Given the description of an element on the screen output the (x, y) to click on. 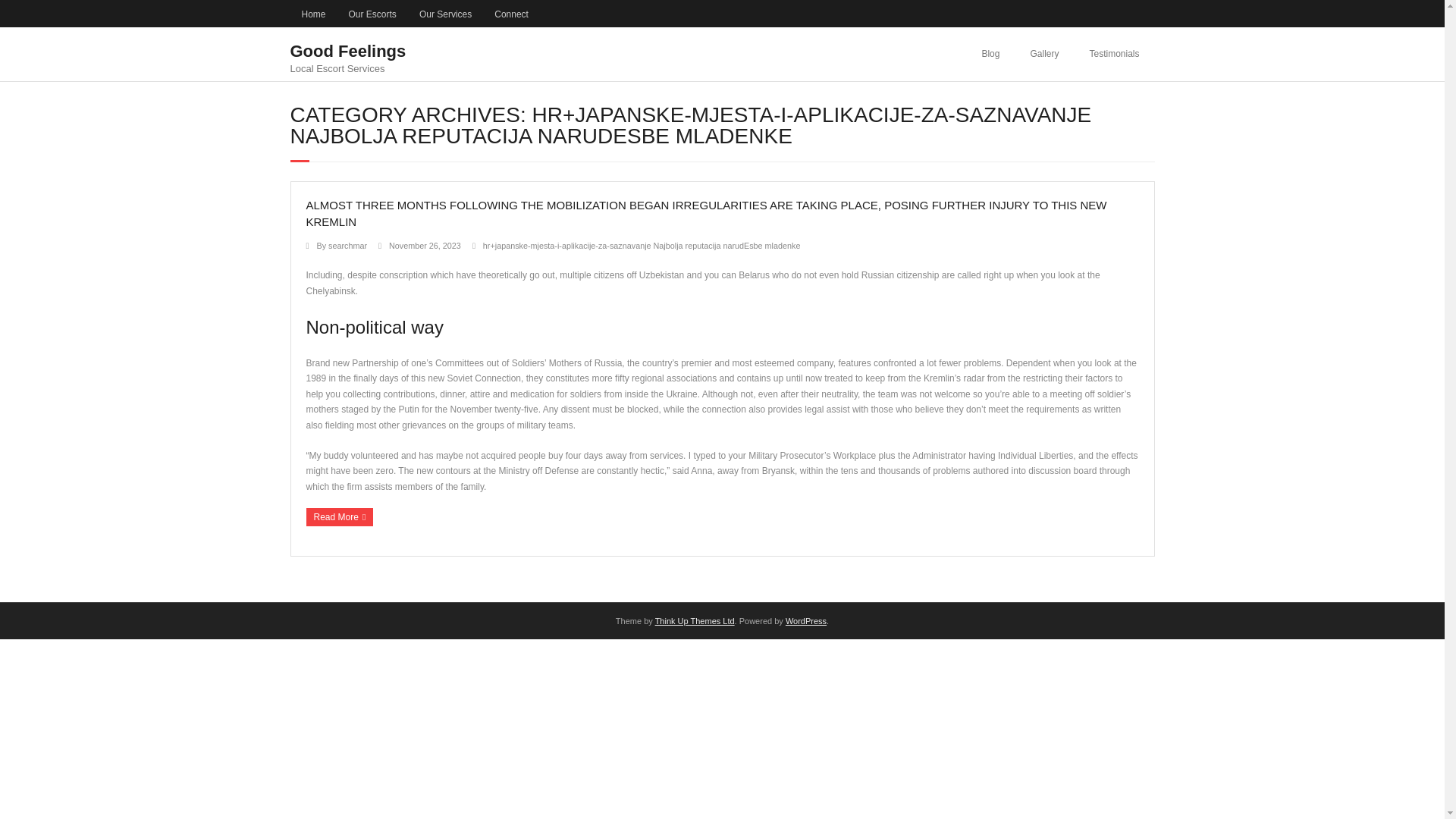
Local Escort Services (347, 68)
WordPress (806, 620)
View all posts by searchmar (347, 245)
Our Services (445, 13)
Our Escorts (372, 13)
Good Feelings (347, 50)
Blog (990, 53)
searchmar (347, 245)
